Given the description of an element on the screen output the (x, y) to click on. 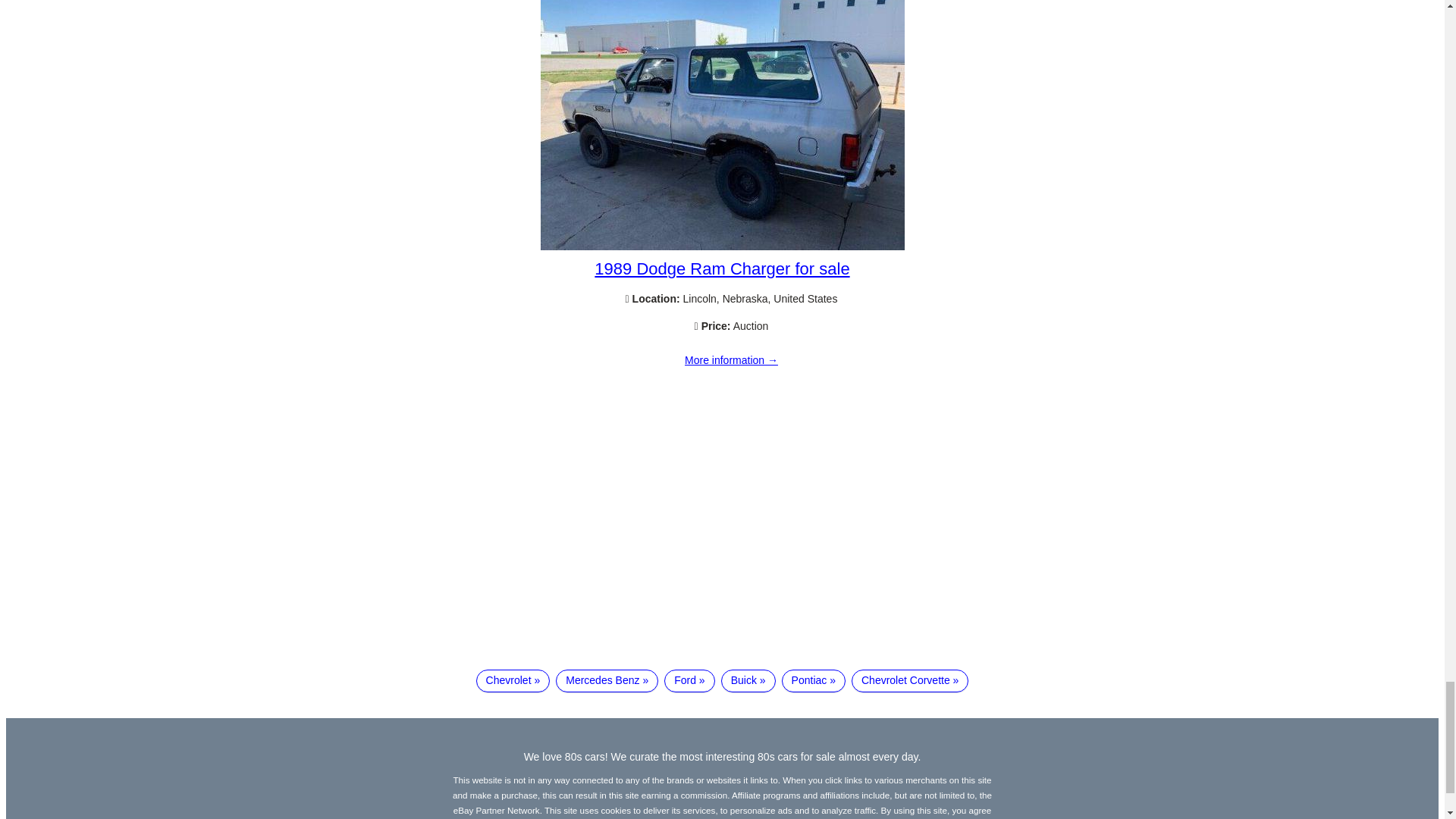
1989 Dodge Ram Charger for sale (722, 246)
Buick (748, 680)
Pontiac (813, 680)
Chevrolet Corvette (909, 680)
Mercedes Benz (607, 680)
1989 Dodge Ram Charger for sale (731, 360)
Chevrolet (513, 680)
Ford (688, 680)
1989 Dodge Ram Charger for sale (721, 268)
